Given the description of an element on the screen output the (x, y) to click on. 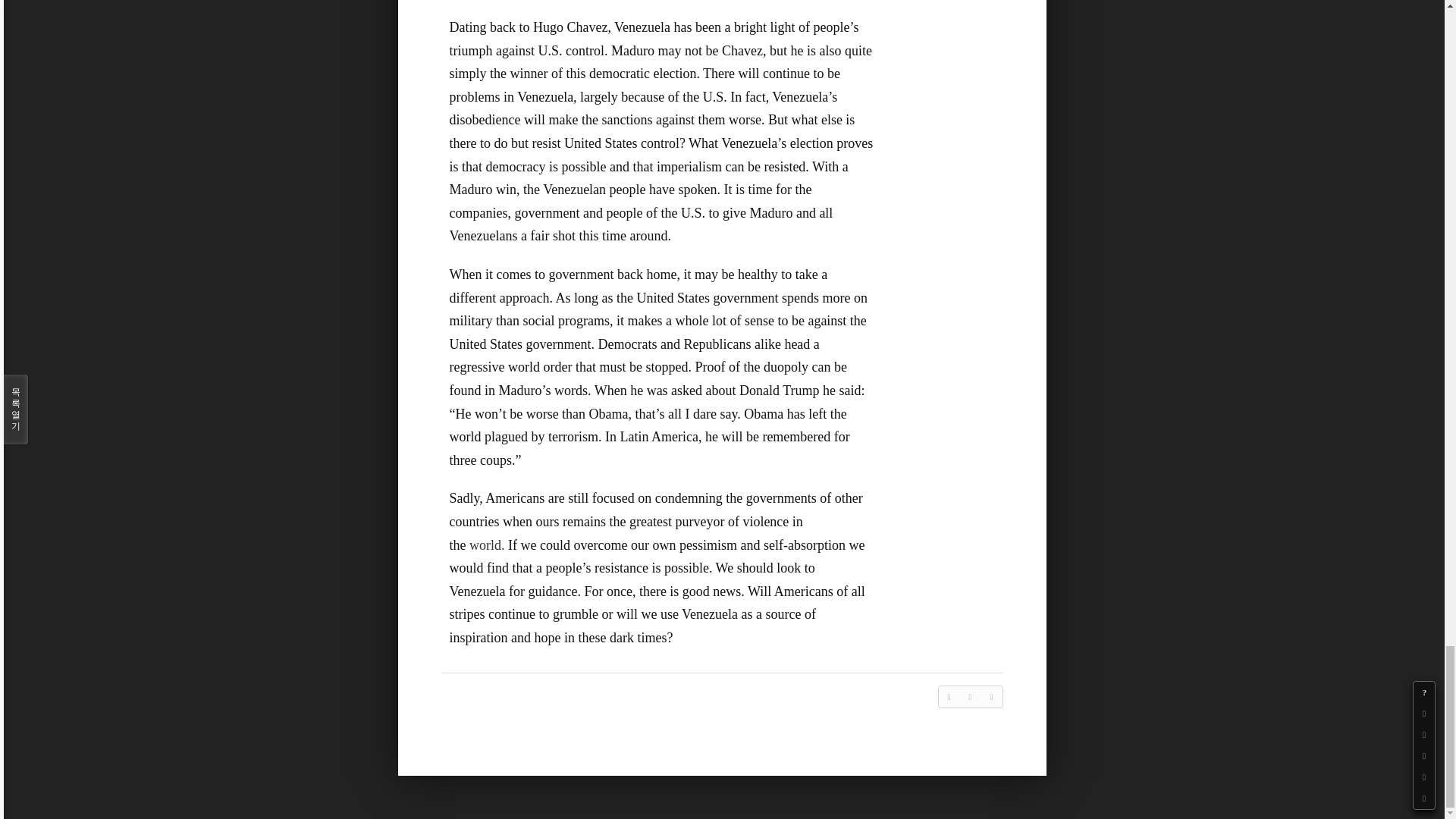
world. (486, 544)
